Given the description of an element on the screen output the (x, y) to click on. 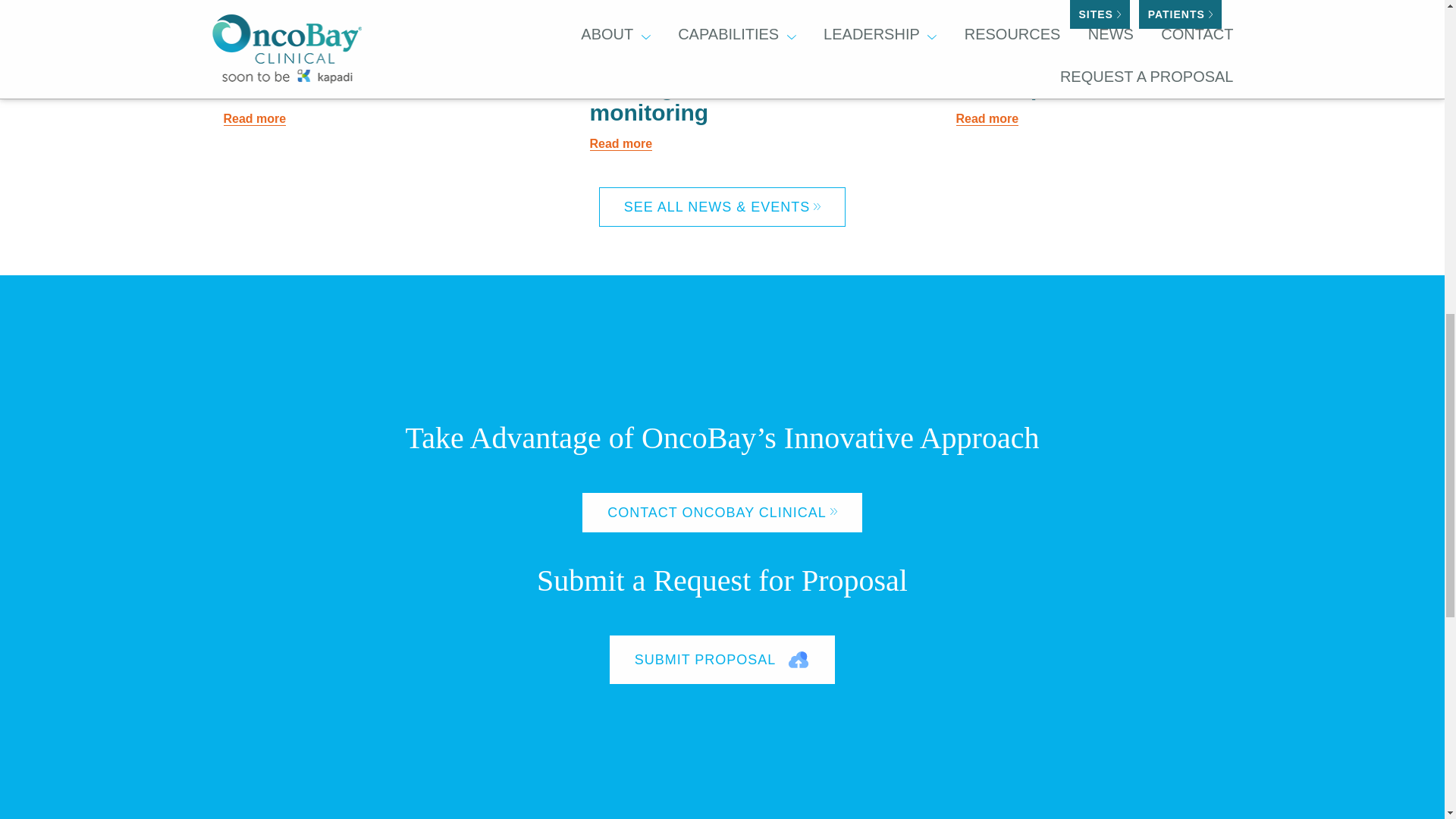
Read more (986, 119)
Read more (253, 119)
CONTACT ONCOBAY CLINICAL (721, 512)
SUBMIT PROPOSAL (722, 659)
Read more (620, 143)
